Given the description of an element on the screen output the (x, y) to click on. 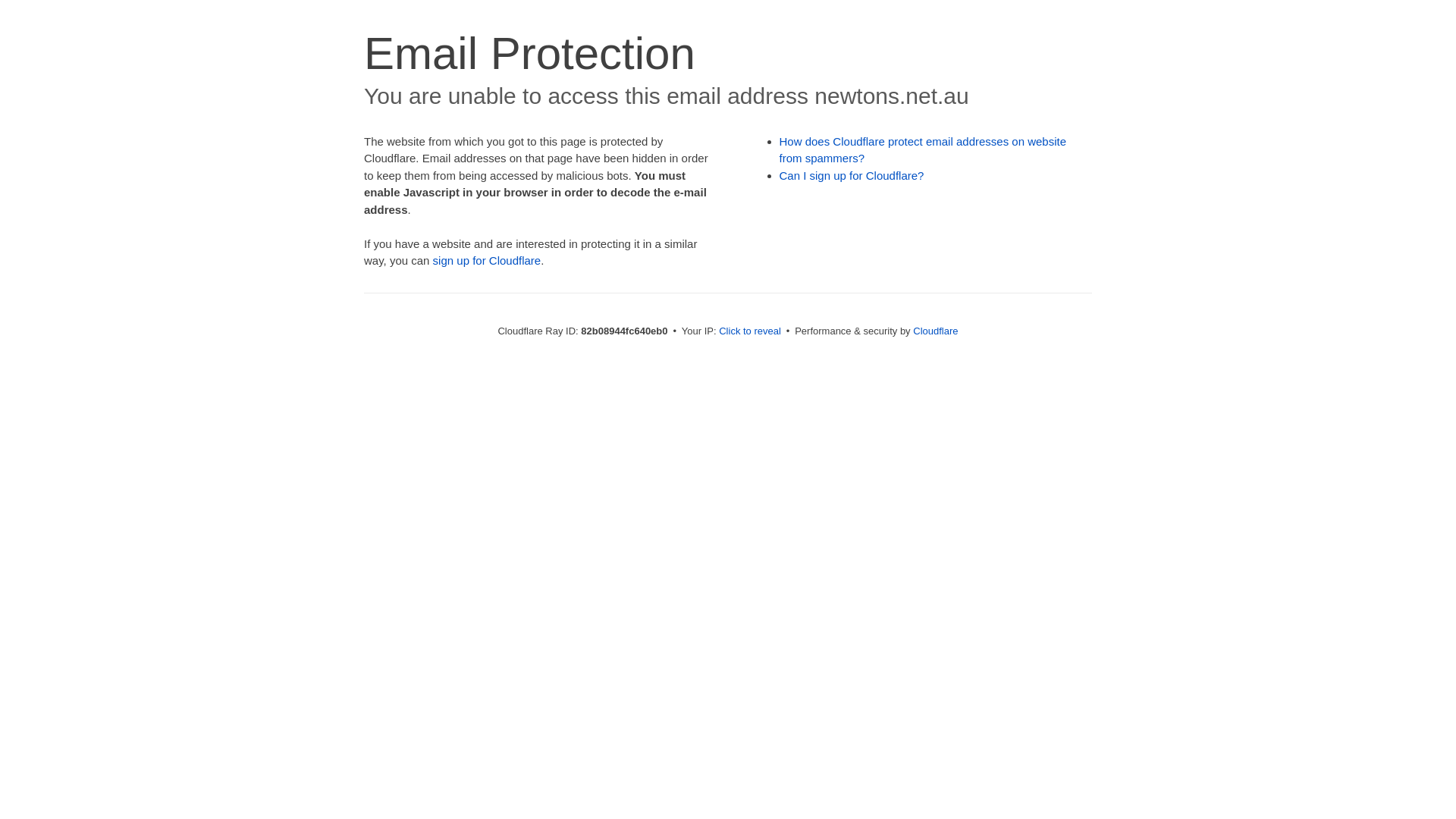
Can I sign up for Cloudflare? Element type: text (851, 175)
Cloudflare Element type: text (935, 330)
Click to reveal Element type: text (749, 330)
sign up for Cloudflare Element type: text (487, 260)
